Given the description of an element on the screen output the (x, y) to click on. 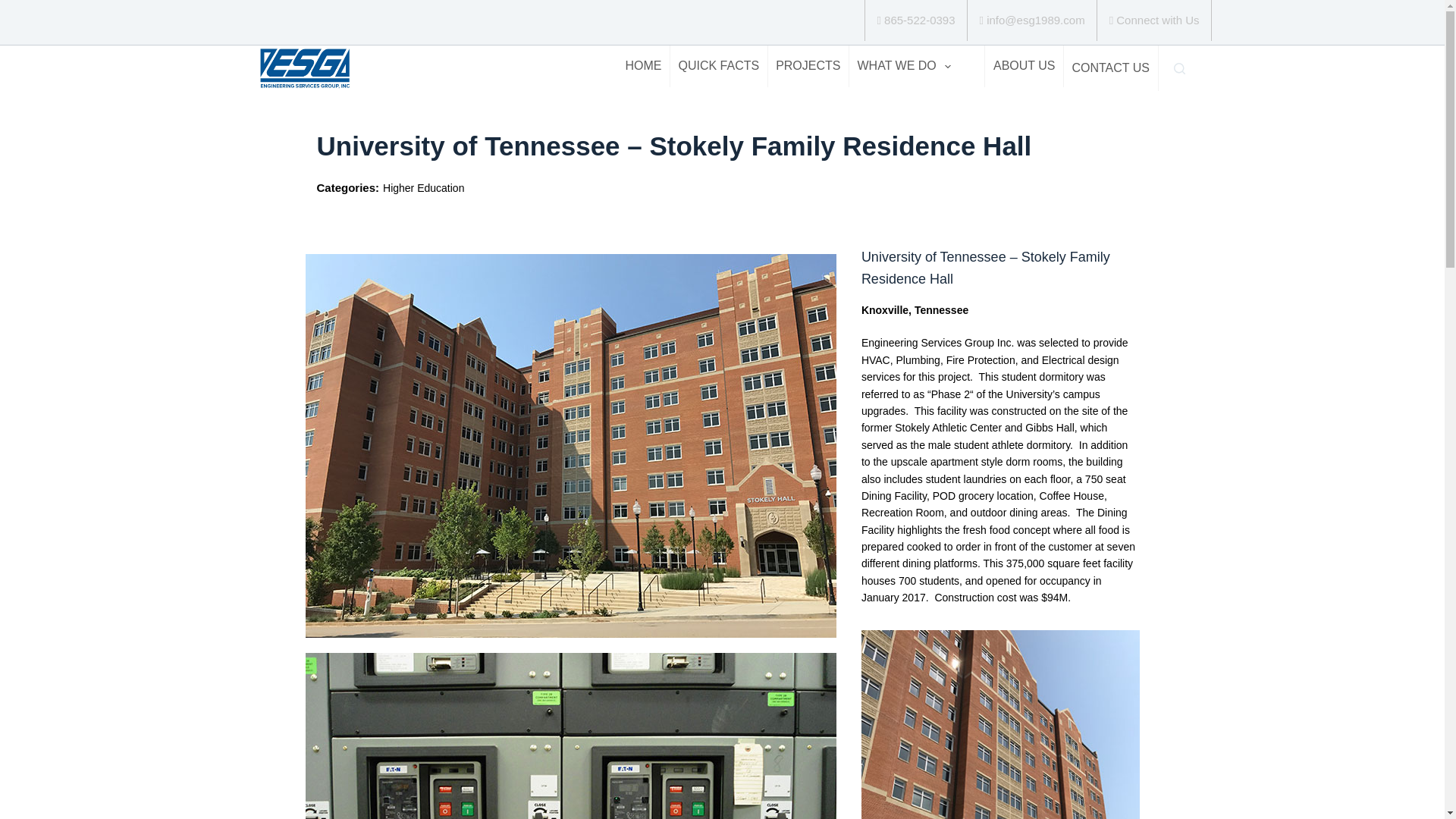
Connect with Us (1154, 19)
Skip to content (15, 7)
WHAT WE DO (903, 65)
HOME (643, 65)
CONTACT US (1110, 67)
PROJECTS (808, 65)
ABOUT US (1023, 65)
QUICK FACTS (718, 65)
